Given the description of an element on the screen output the (x, y) to click on. 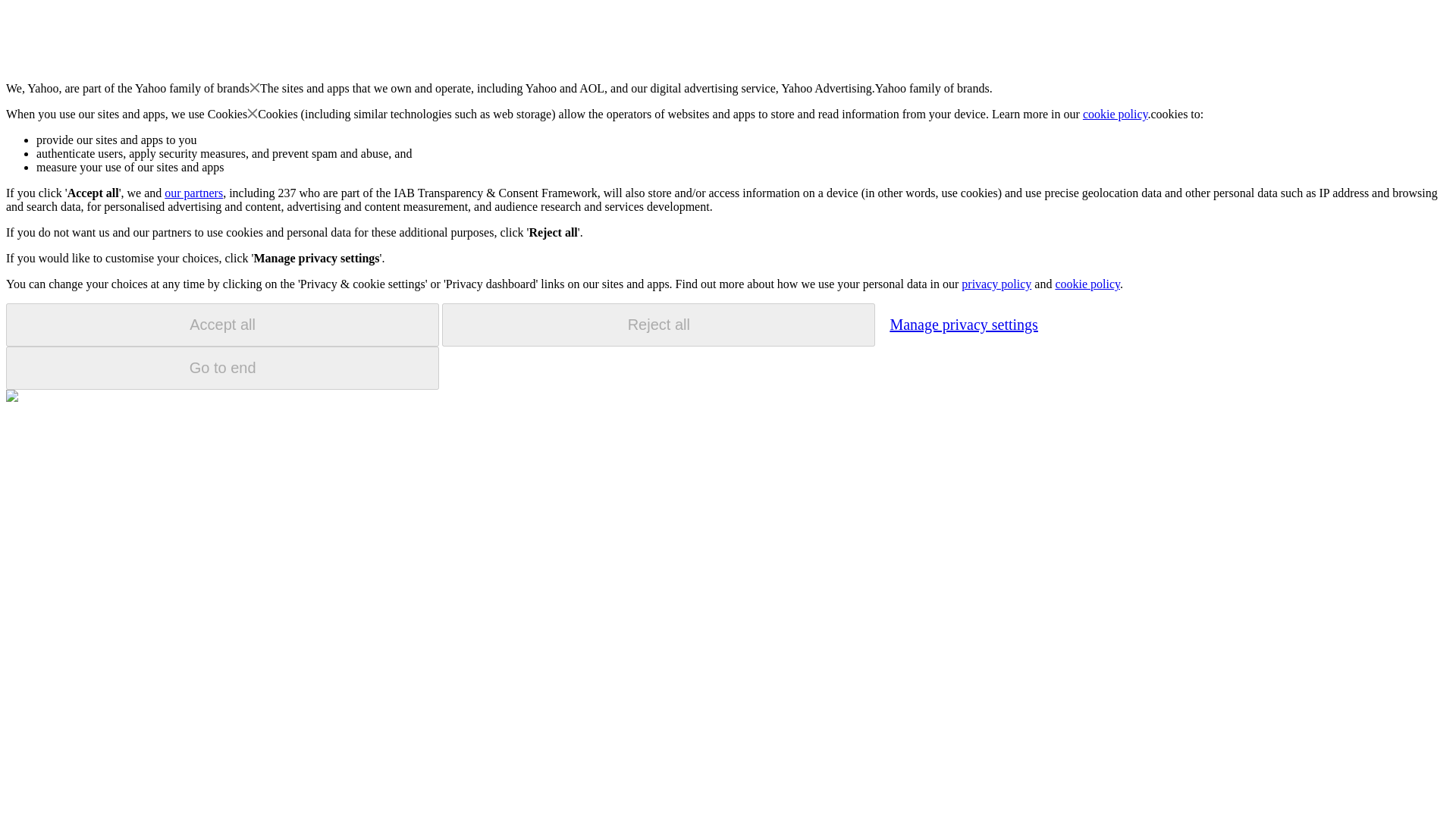
cookie policy (1086, 283)
privacy policy (995, 283)
Accept all (222, 324)
Go to end (222, 367)
Manage privacy settings (963, 323)
cookie policy (1115, 113)
Reject all (658, 324)
our partners (193, 192)
